Given the description of an element on the screen output the (x, y) to click on. 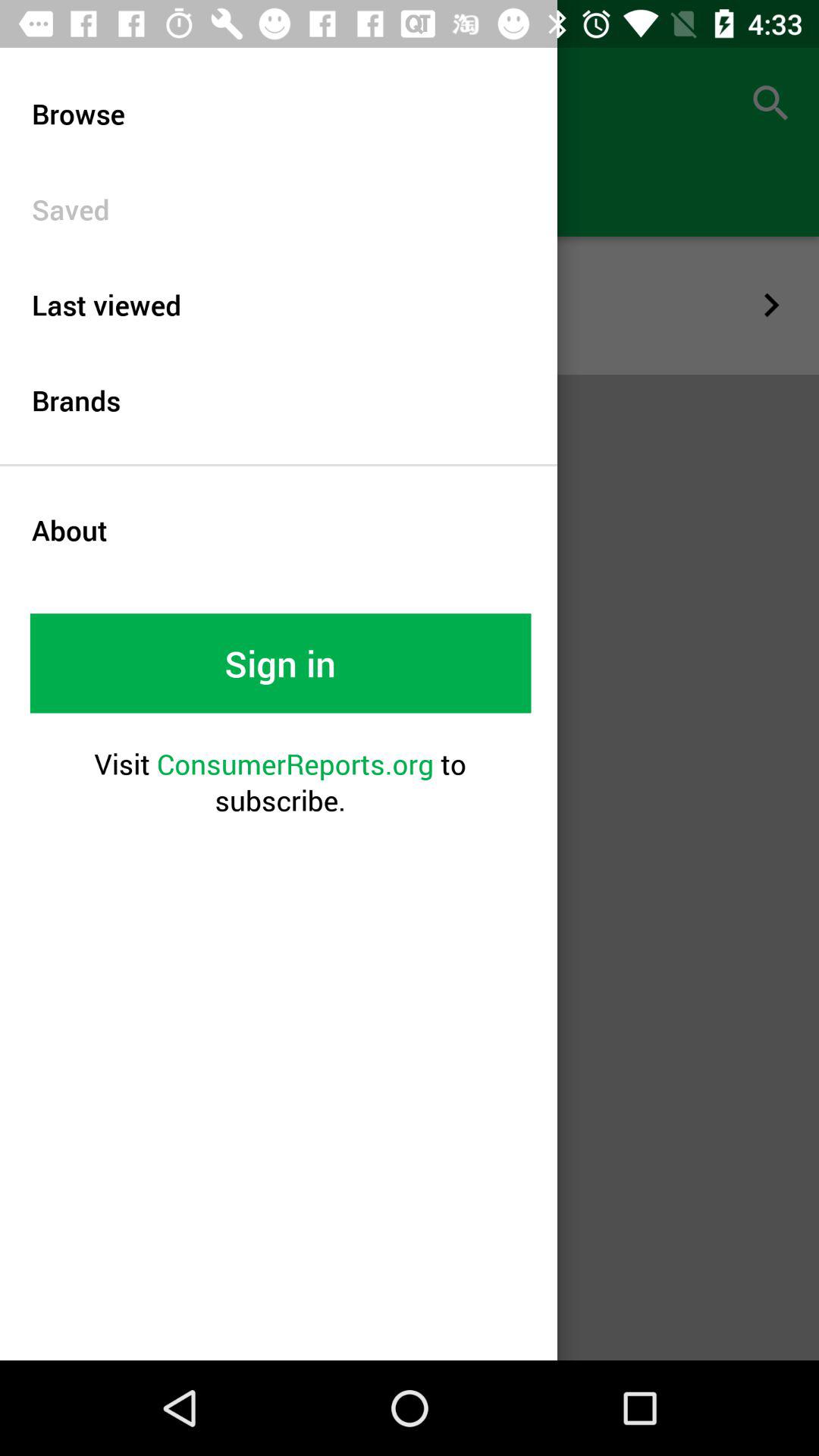
click on the search option which is right side of browse (771, 103)
